Given the description of an element on the screen output the (x, y) to click on. 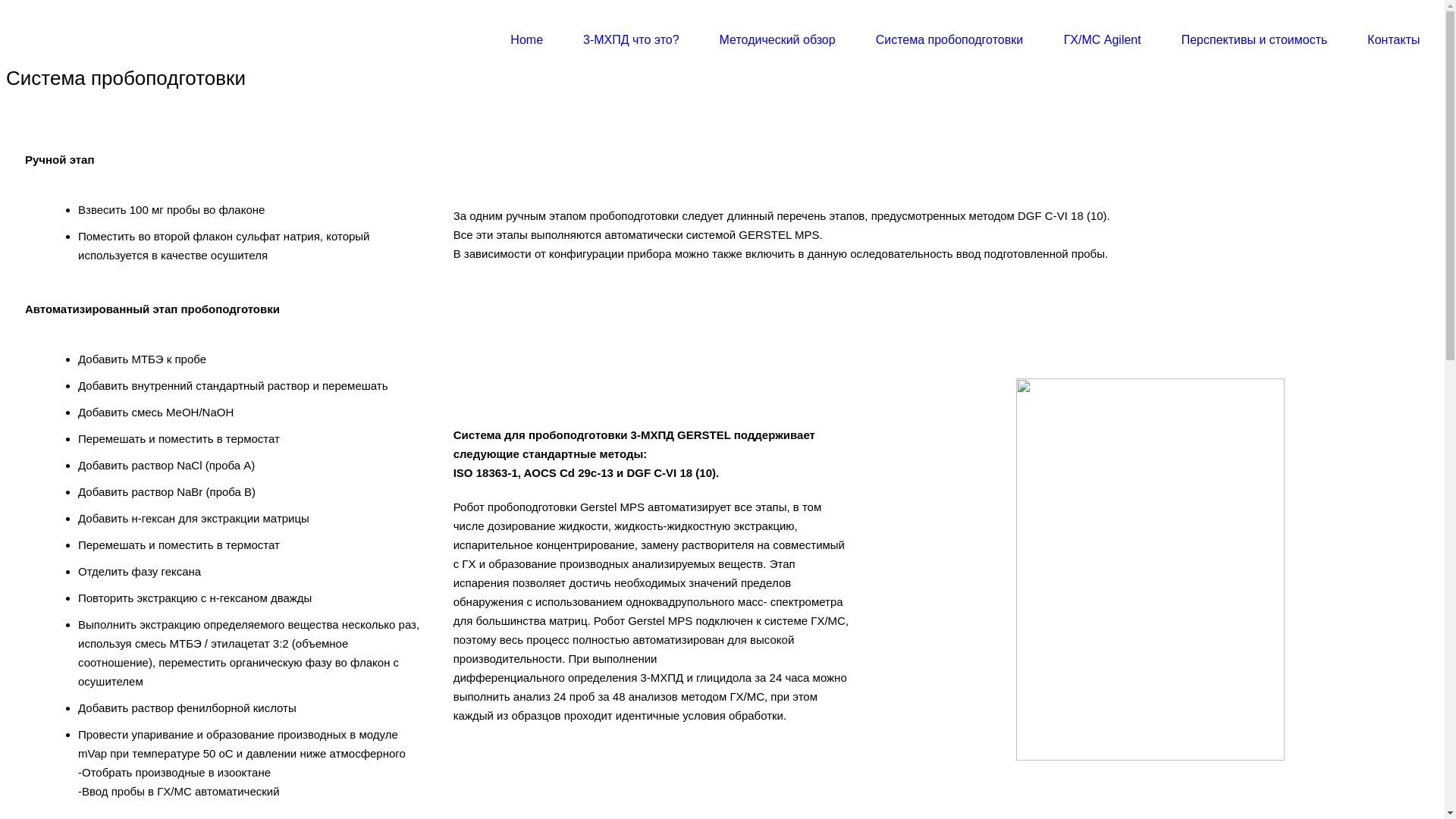
Home Element type: text (526, 39)
